Given the description of an element on the screen output the (x, y) to click on. 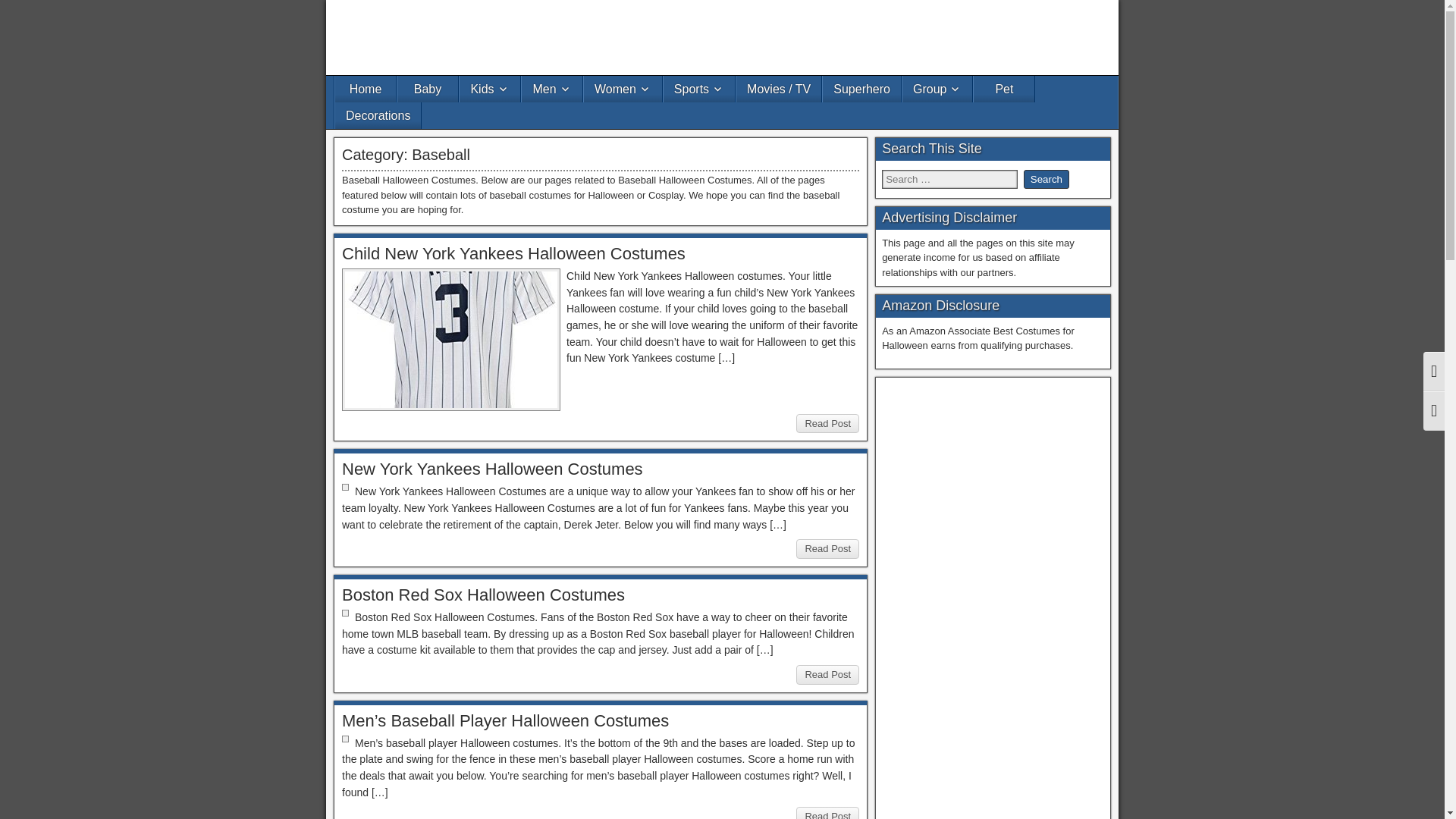
Search (1045, 179)
Decorations (377, 115)
Child New York Yankees Halloween Costumes (513, 253)
Sports Halloween Costumes (699, 89)
New York Yankees Halloween Costumes (492, 468)
Baby (427, 89)
Group Halloween Costumes (937, 89)
Read Post (827, 424)
Boston Red Sox Halloween Costumes (483, 594)
Read Post (827, 548)
Sports (699, 89)
Women (622, 89)
Superhero Halloween Costumes (861, 89)
Read Post (827, 674)
Pet (1003, 89)
